Given the description of an element on the screen output the (x, y) to click on. 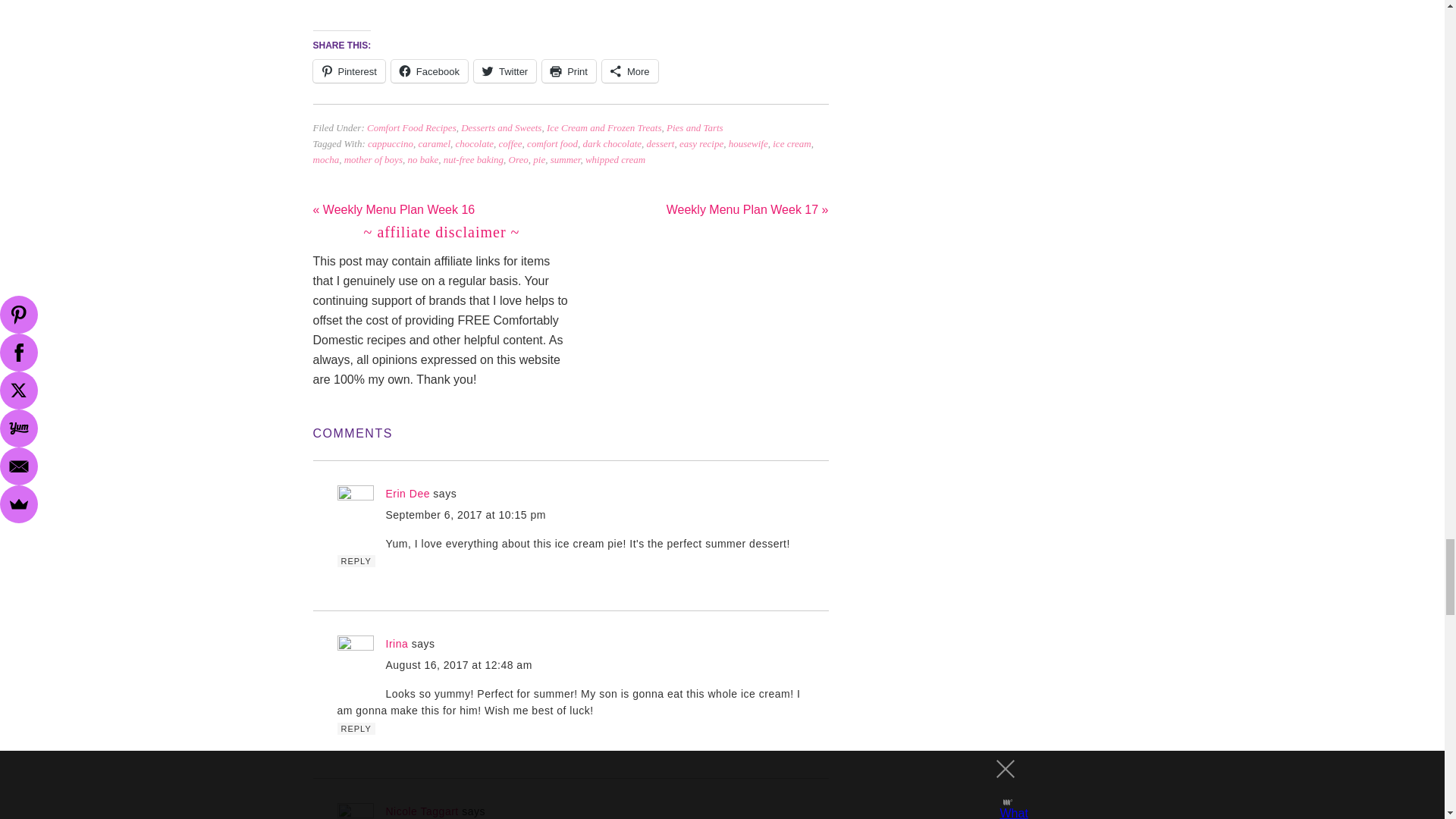
Twitter (504, 70)
Click to share on Pinterest (348, 70)
Desserts and Sweets (501, 127)
Click to share on Facebook (429, 70)
Facebook (429, 70)
coffee (510, 143)
cappuccino (390, 143)
chocolate (475, 143)
Comfort Food Recipes (411, 127)
Click to share on Twitter (504, 70)
caramel (433, 143)
Ice Cream and Frozen Treats (604, 127)
Print (568, 70)
Pies and Tarts (694, 127)
Pinterest (348, 70)
